Given the description of an element on the screen output the (x, y) to click on. 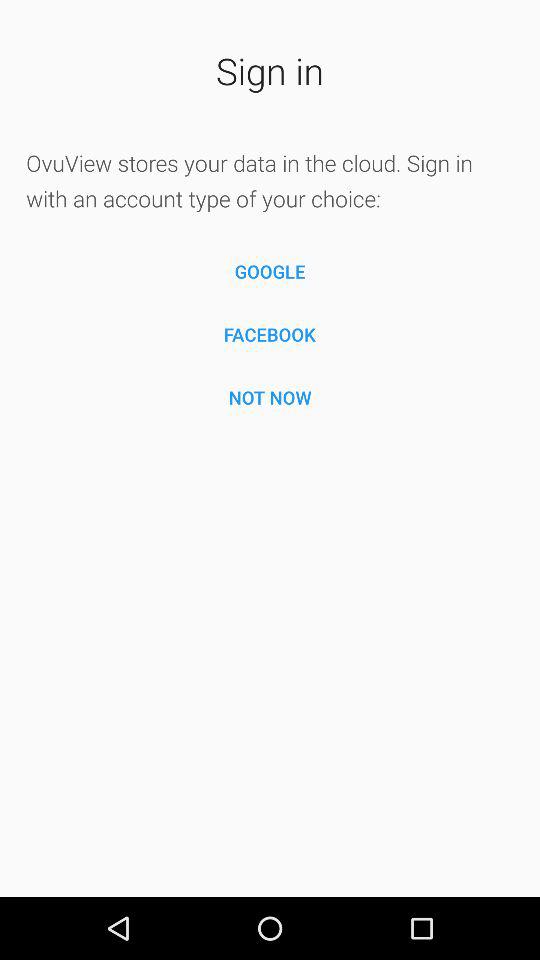
scroll to facebook (269, 334)
